Given the description of an element on the screen output the (x, y) to click on. 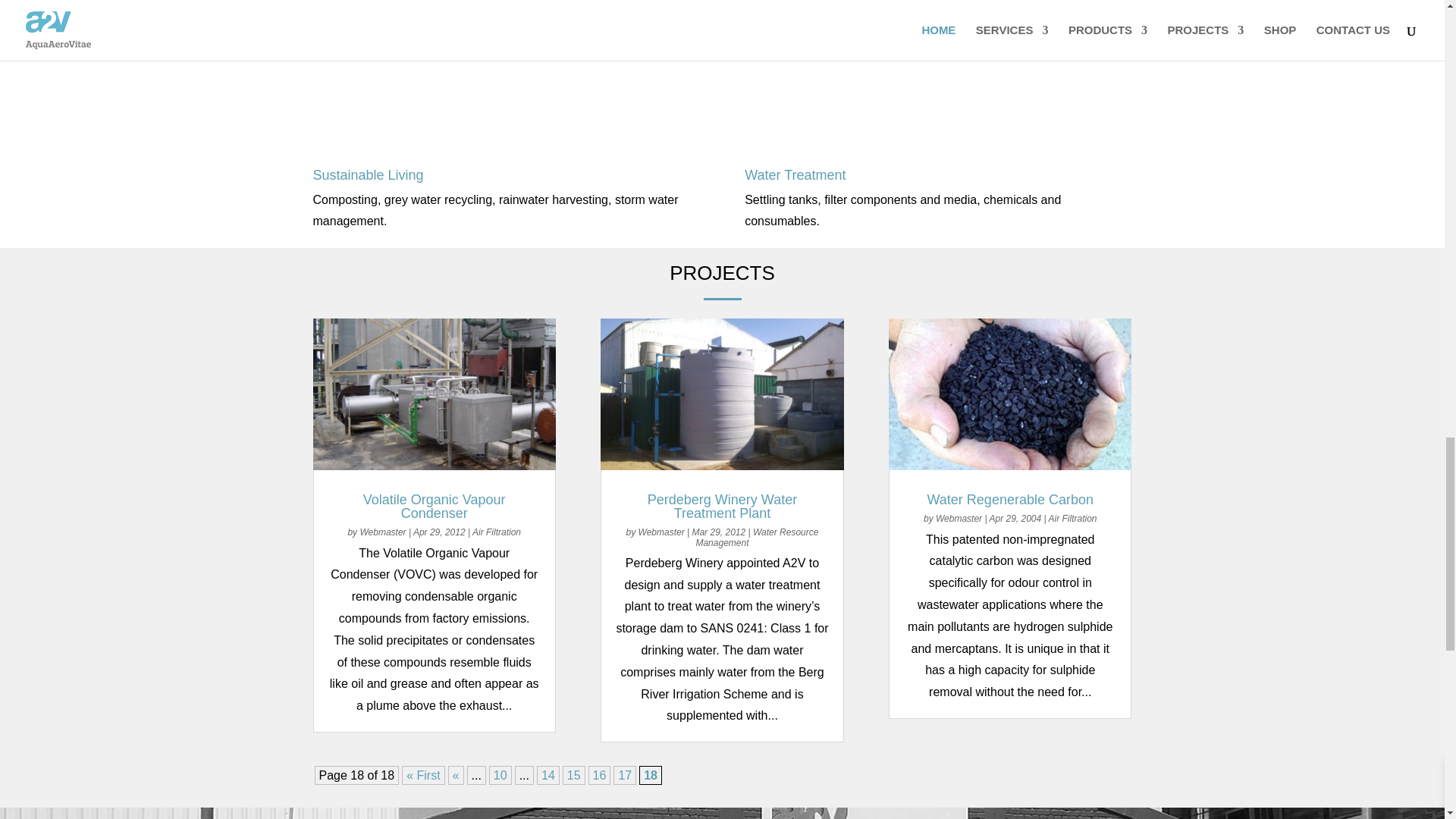
Page 14 (548, 774)
Posts by Webmaster (382, 532)
Posts by Webmaster (661, 532)
Page 10 (500, 774)
Page 17 (624, 774)
Posts by Webmaster (958, 518)
Page 16 (599, 774)
Page 15 (573, 774)
